Given the description of an element on the screen output the (x, y) to click on. 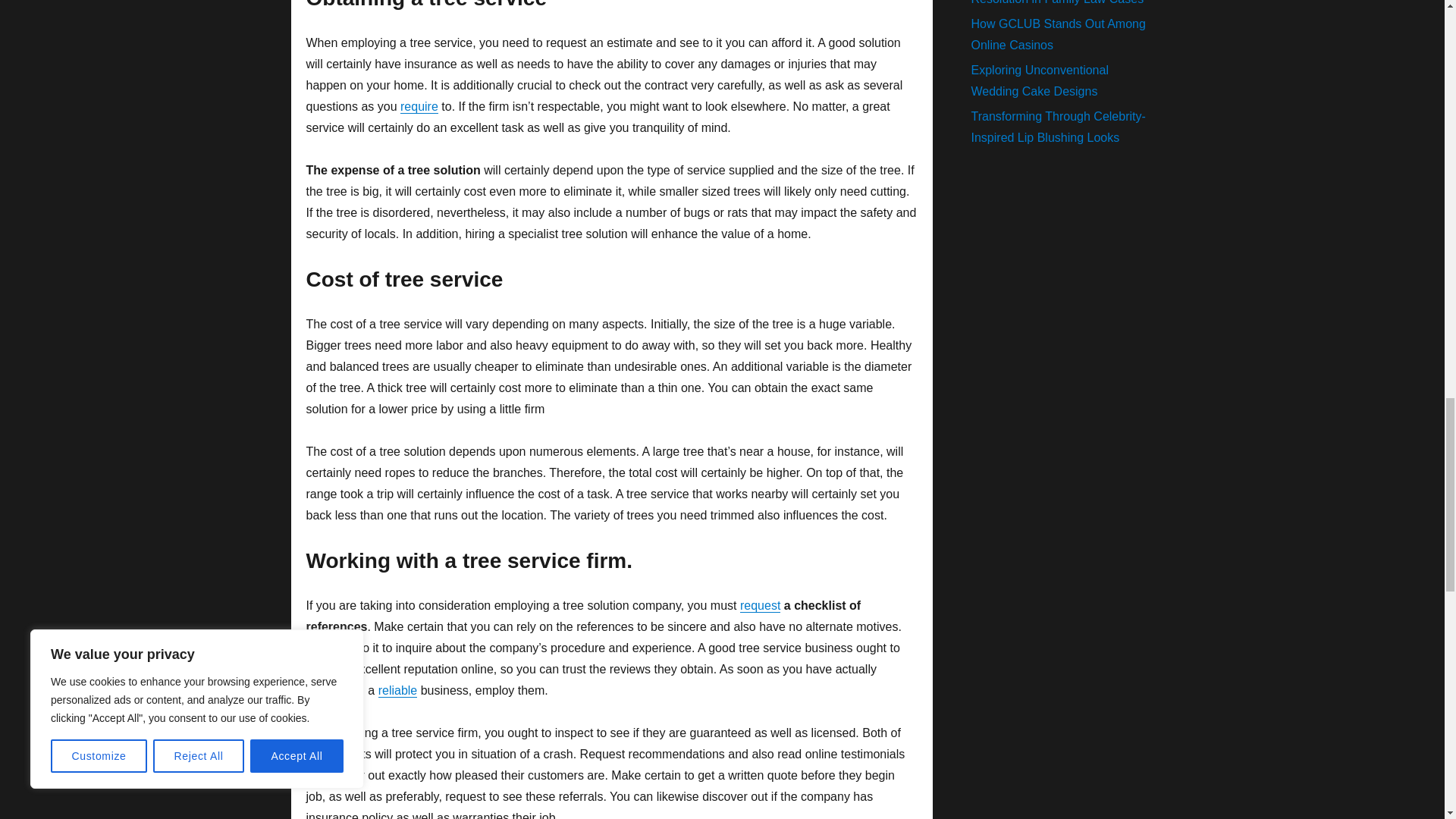
reliable (397, 689)
request (759, 604)
require (419, 106)
